Given the description of an element on the screen output the (x, y) to click on. 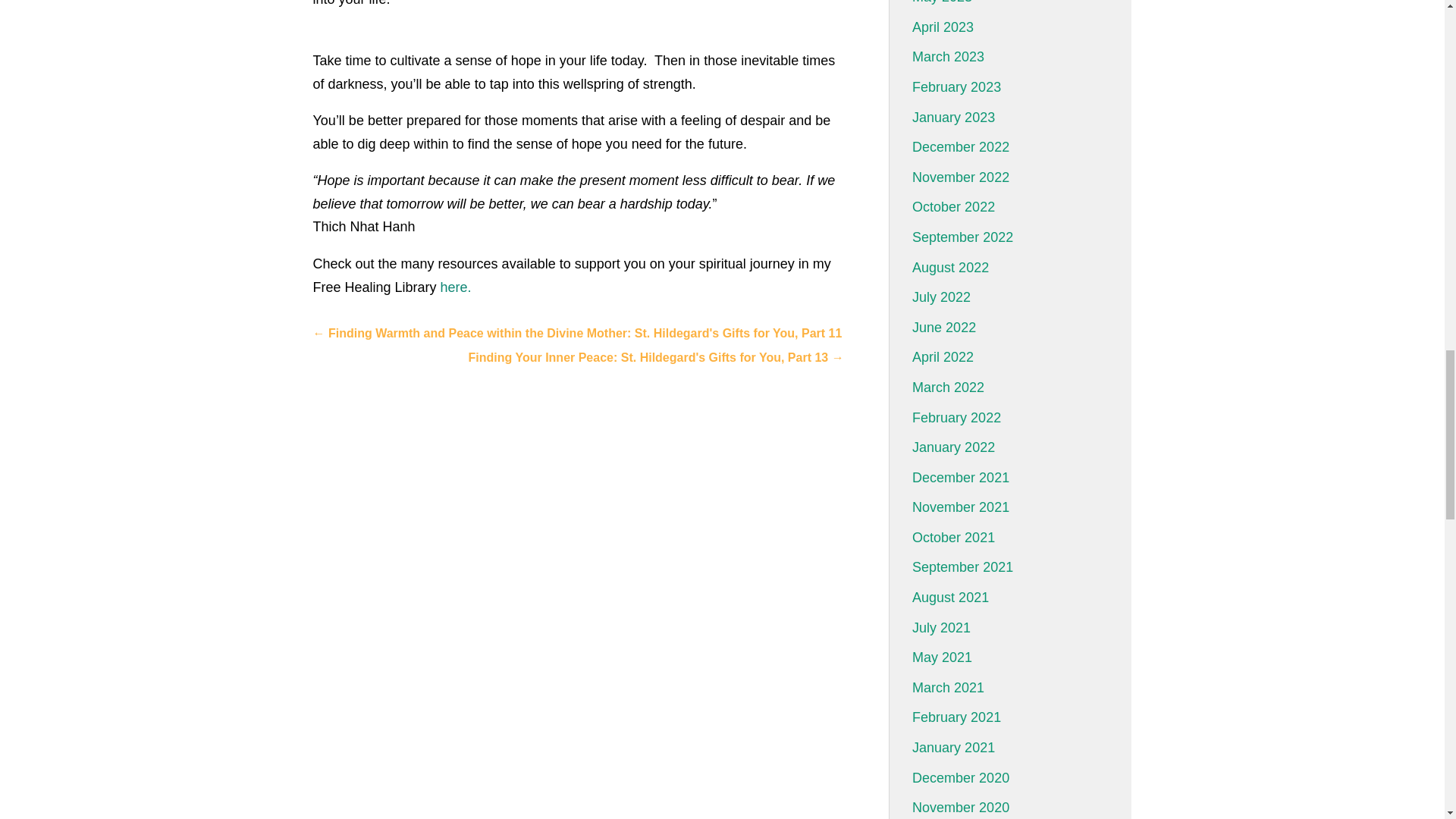
here. (456, 287)
